Given the description of an element on the screen output the (x, y) to click on. 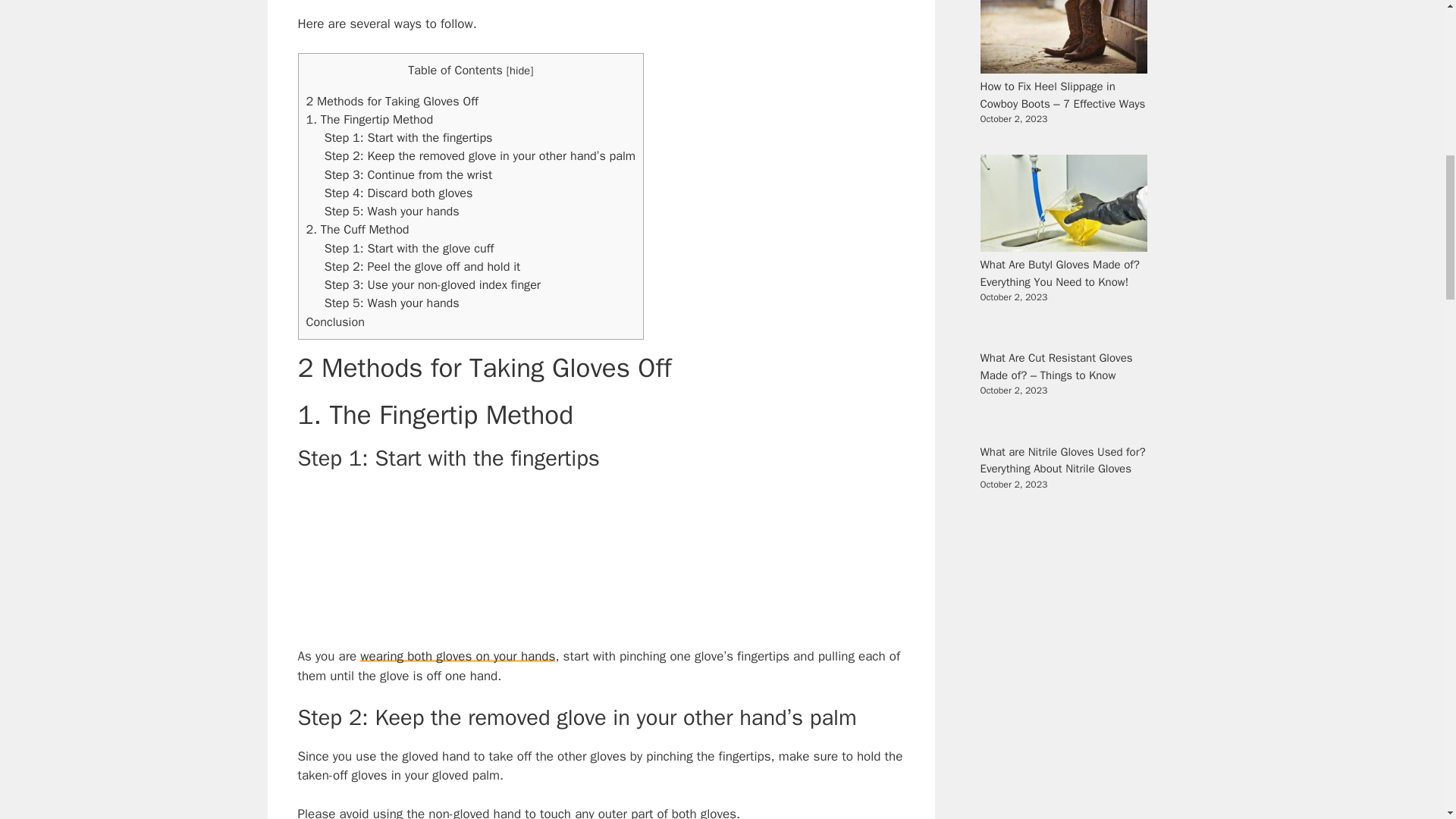
Scroll back to top (1406, 720)
Step 3: Continue from the wrist (408, 174)
Step 3: Use your non-gloved index finger (432, 284)
2. The Cuff Method (357, 229)
Step 5: Wash your hands (392, 302)
Step 4: Discard both gloves (398, 192)
wearing both gloves on your hands (456, 656)
1. The Fingertip Method (369, 119)
Step 5: Wash your hands (392, 211)
Step 2: Peel the glove off and hold it (422, 266)
2 Methods for Taking Gloves Off (392, 100)
Conclusion (335, 321)
Step 1: Start with the glove cuff (409, 248)
Step 1: Start with the fingertips (408, 137)
hide (519, 69)
